Given the description of an element on the screen output the (x, y) to click on. 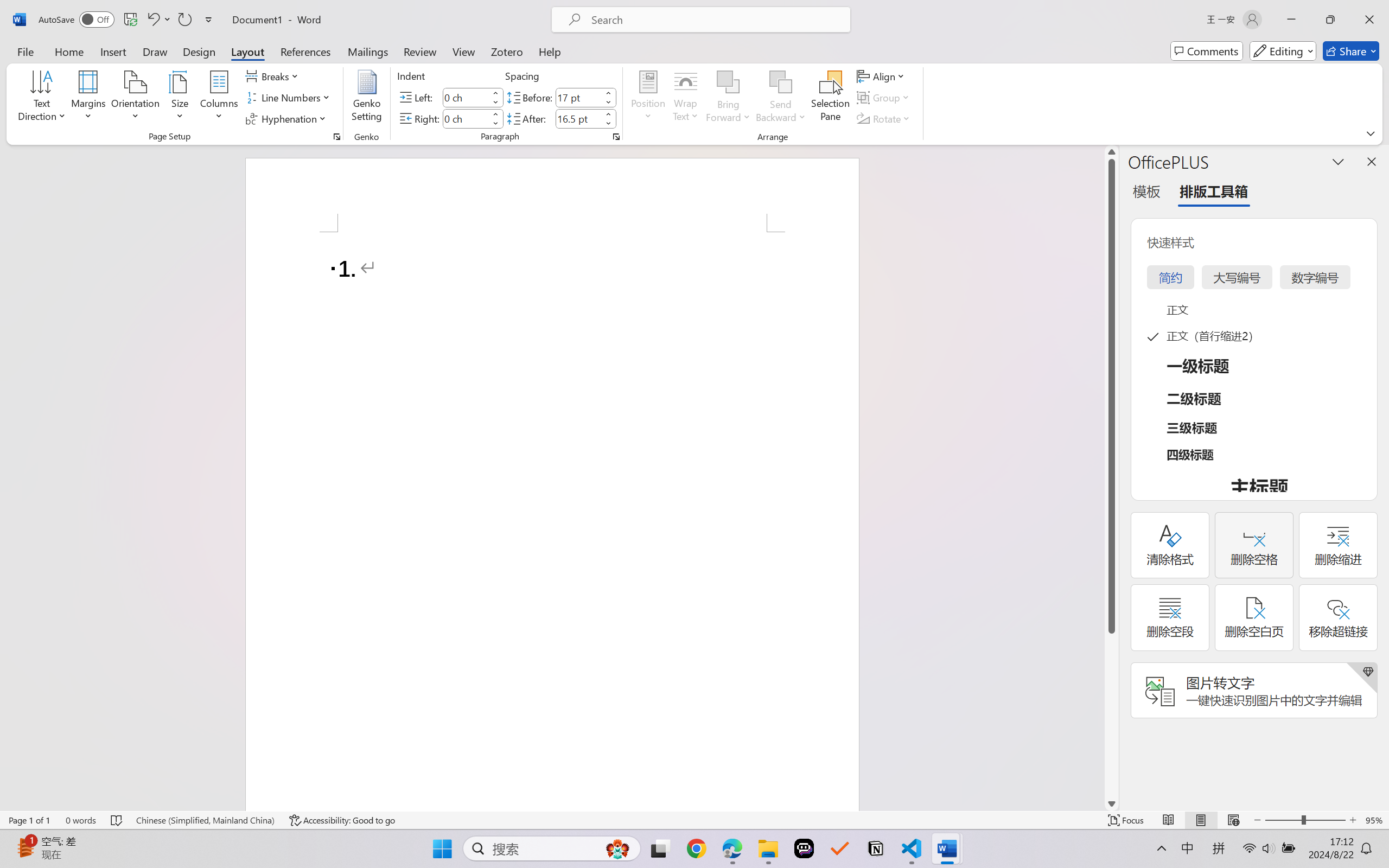
Send Backward (781, 97)
Zoom 95% (1374, 819)
Send Backward (781, 81)
Position (647, 97)
